Given the description of an element on the screen output the (x, y) to click on. 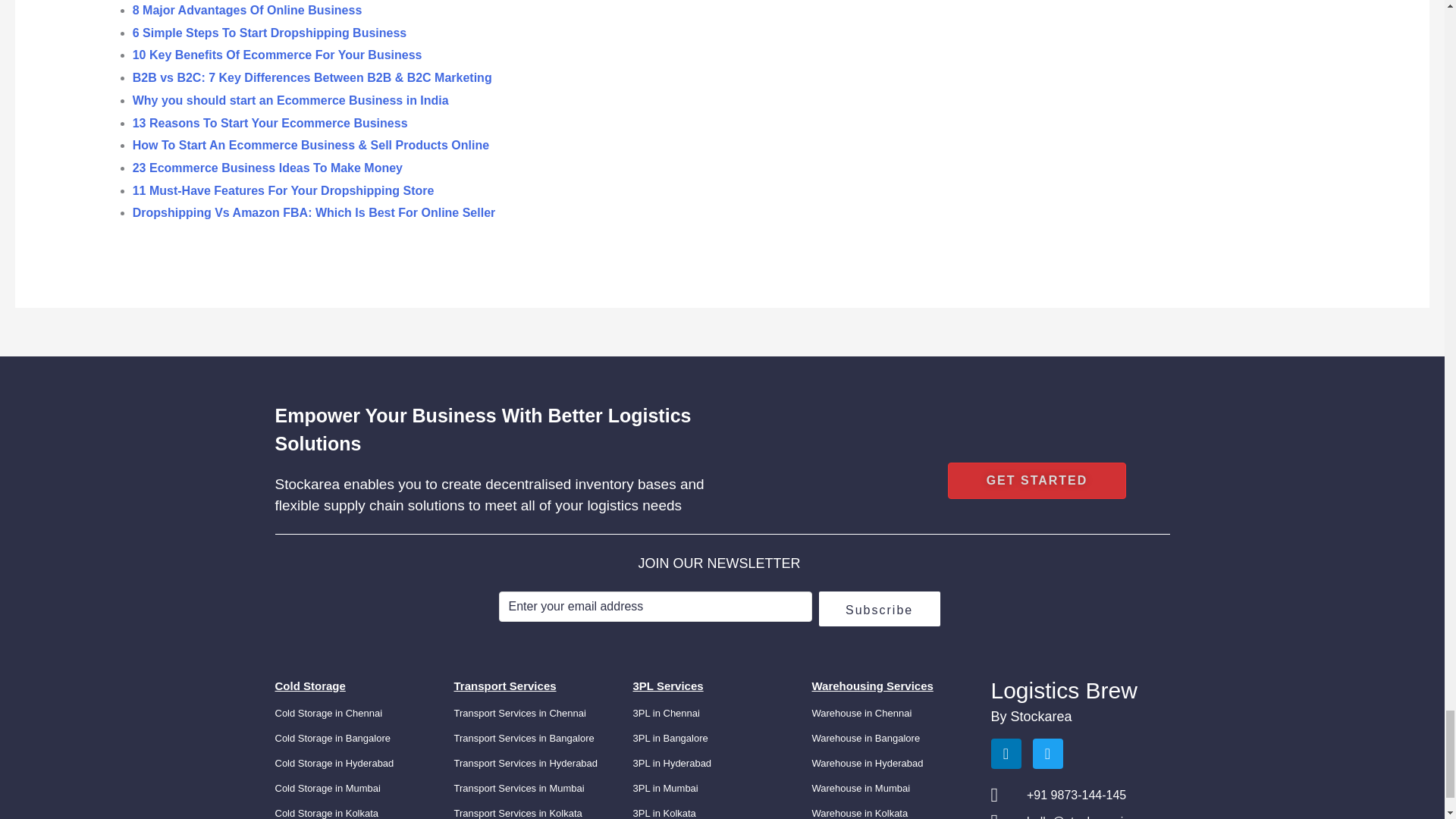
13 Reasons To Start Your Ecommerce Business (269, 123)
Cold Storage in Bangalore (332, 737)
GET STARTED (1036, 480)
13 Reasons To Start Your Ecommerce Business (269, 123)
11 Must-Have Features For Your Dropshipping Store (282, 190)
Why you should start an Ecommerce Business in India (290, 100)
Why you should start an Ecommerce Business in India (290, 100)
Dropshipping Vs Amazon FBA: Which Is Best For Online Seller (314, 212)
10 Key Benefits Of Ecommerce For Your Business (277, 54)
Cold Storage in Chennai (328, 713)
6 Simple Steps To Start Dropshipping Business (269, 32)
23 Ecommerce Business Ideas To Make Money (267, 167)
10 Key Benefits Of Ecommerce For Your Business (277, 54)
Subscribe (879, 608)
8 Major Advantages Of Online Business (247, 10)
